Given the description of an element on the screen output the (x, y) to click on. 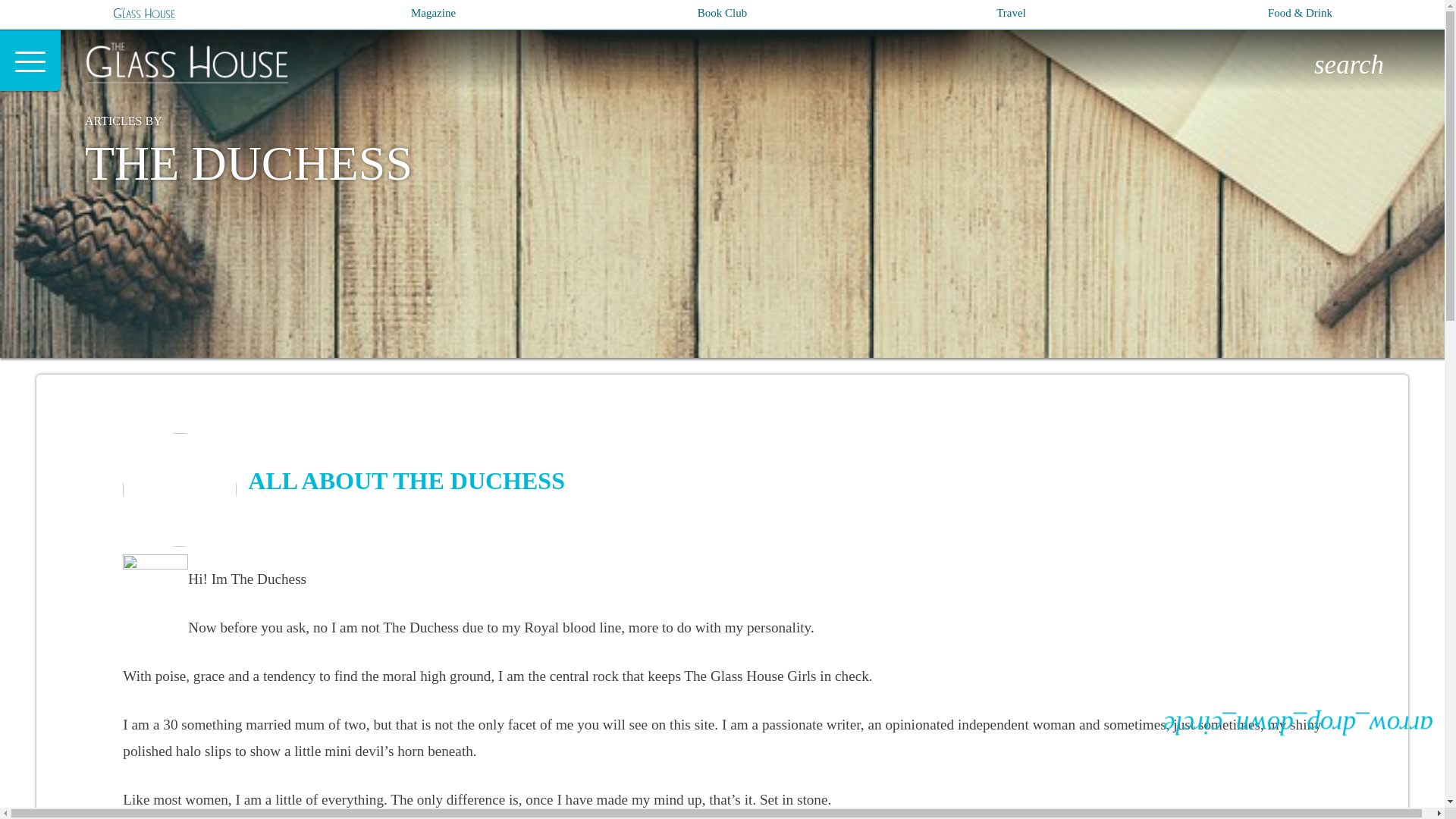
Magazine (432, 12)
Travel (1010, 12)
Book Club (721, 12)
The Glass House (198, 63)
